Given the description of an element on the screen output the (x, y) to click on. 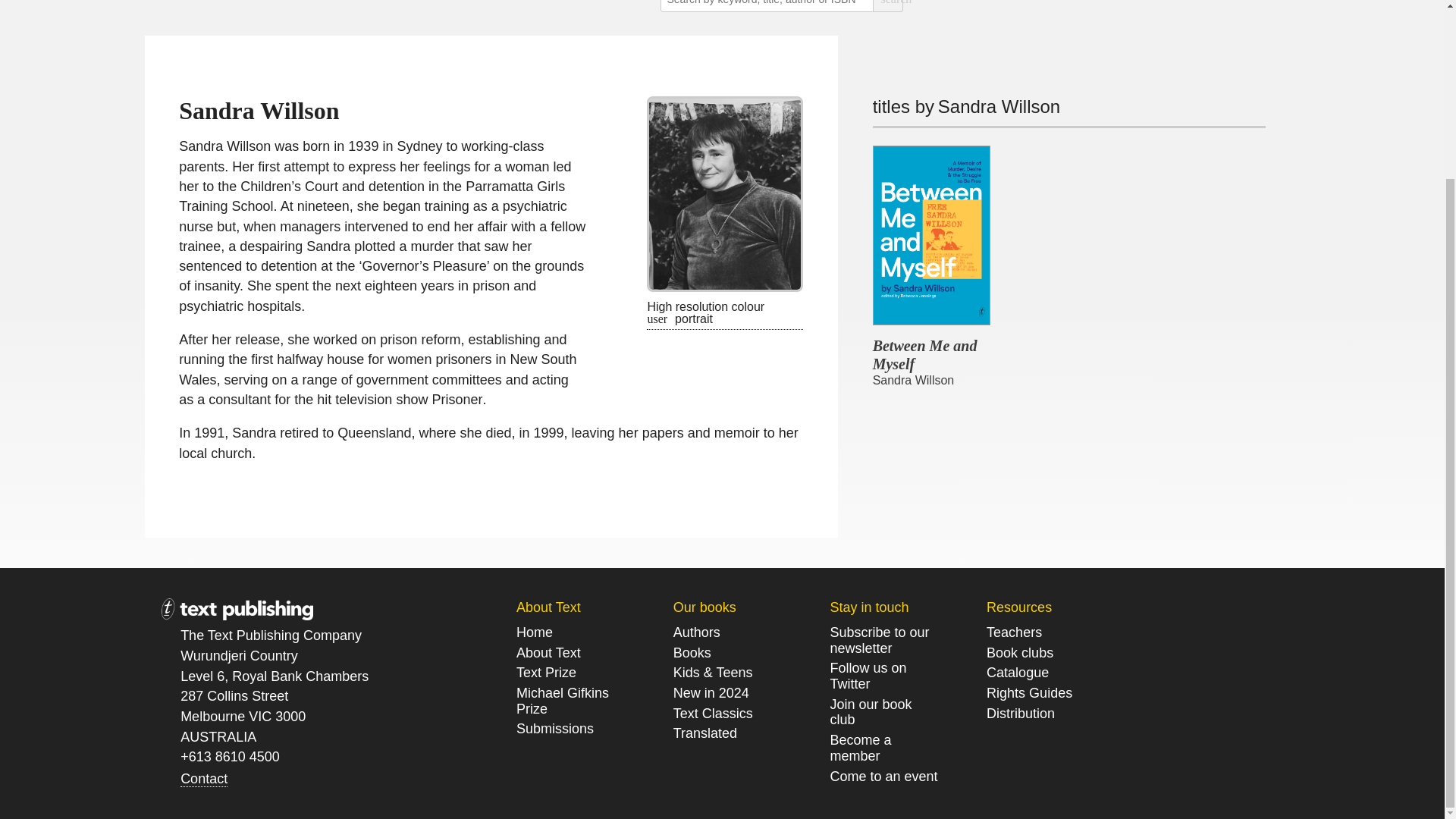
Michael Gifkins Prize (562, 701)
search (887, 6)
New in 2024  (712, 693)
Authors (696, 632)
About Text (548, 652)
Home (534, 632)
Contact (203, 779)
Submissions (555, 729)
Translated (704, 733)
Text Prize (546, 672)
